Given the description of an element on the screen output the (x, y) to click on. 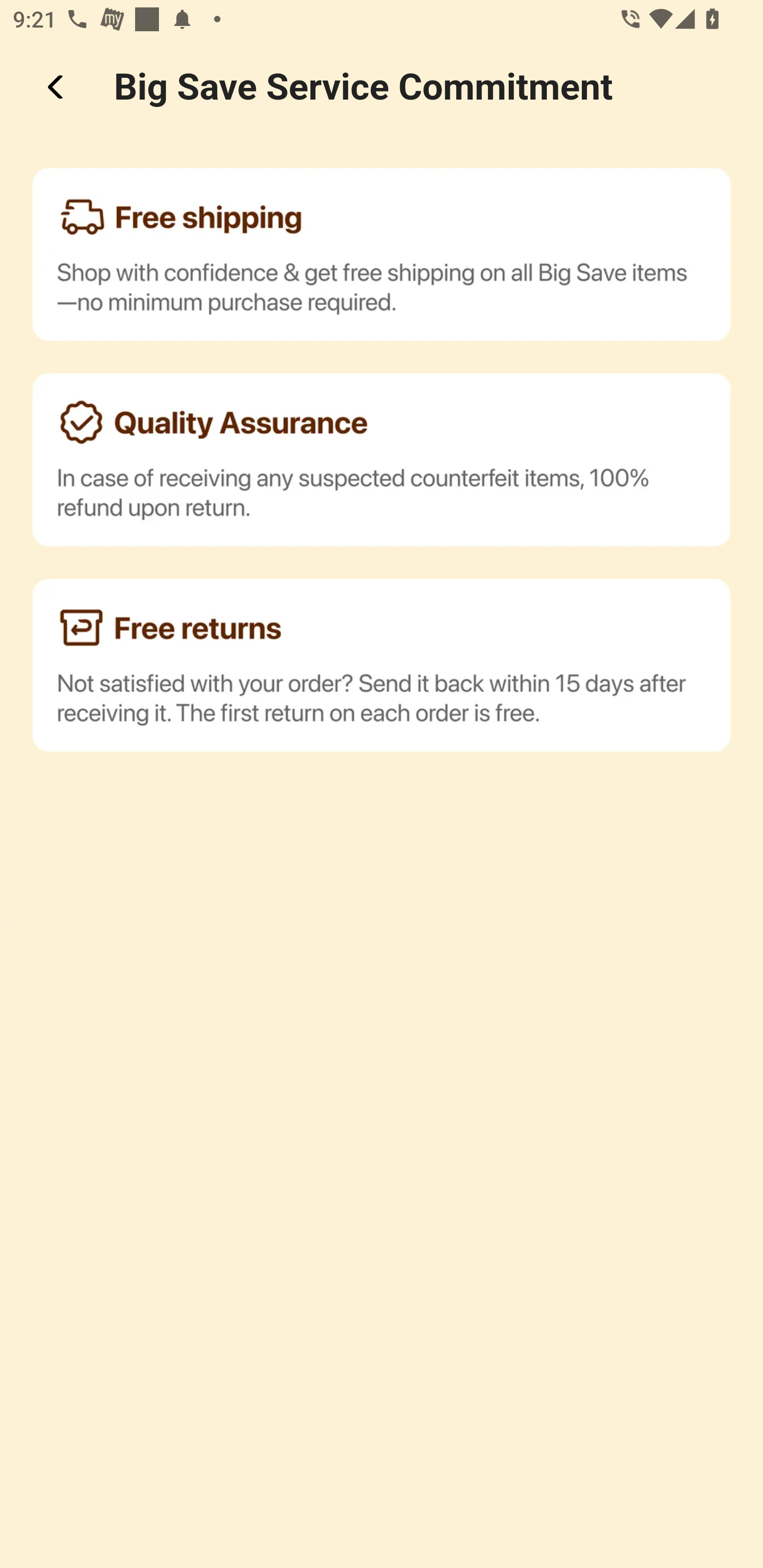
 (57, 86)
